Given the description of an element on the screen output the (x, y) to click on. 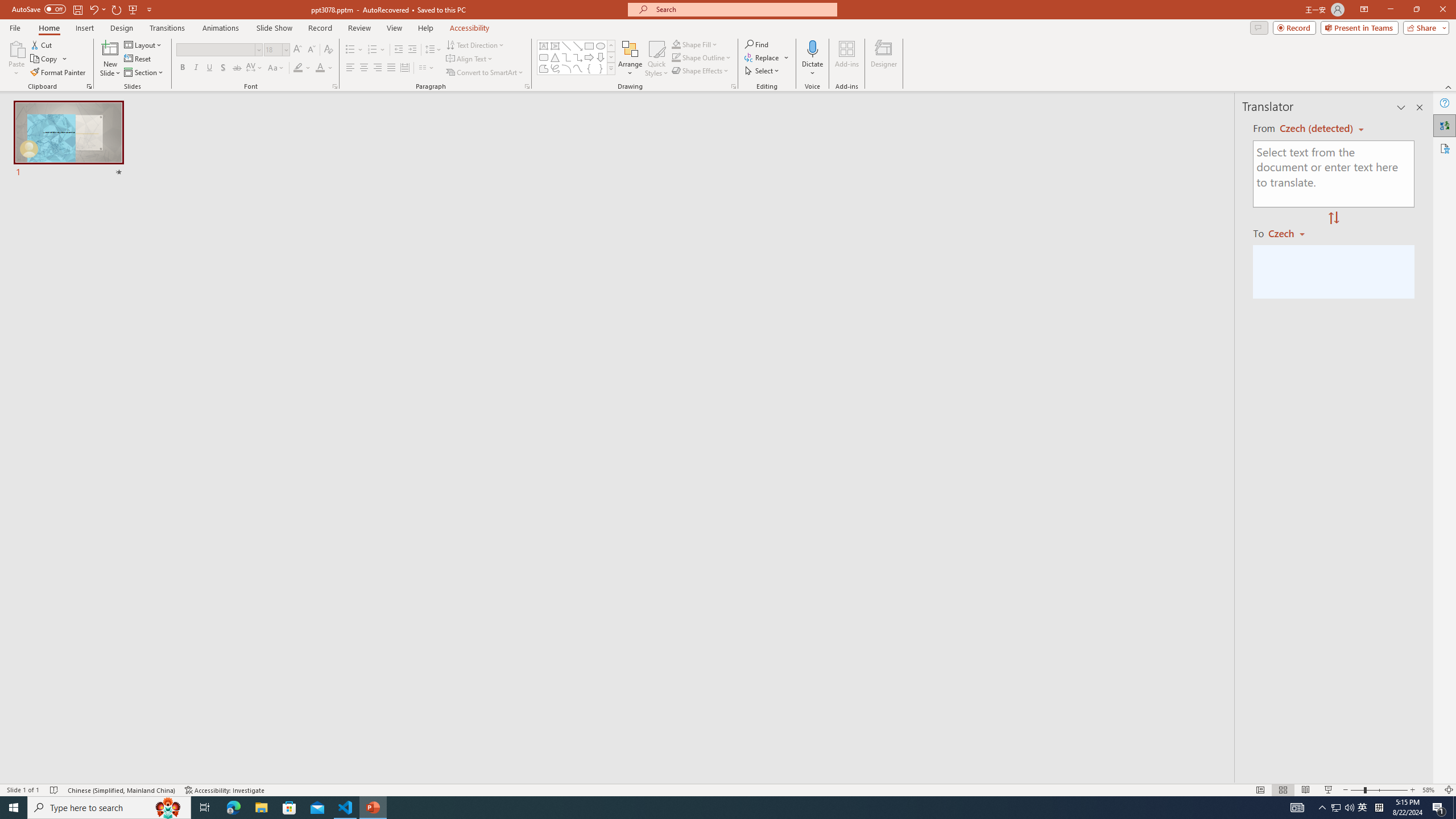
C26.0% M5.9% (975, 115)
Views and More Actions... (251, 182)
Debug Console (Ctrl+Shift+Y) (486, 533)
No Problems (121, 766)
